Given the description of an element on the screen output the (x, y) to click on. 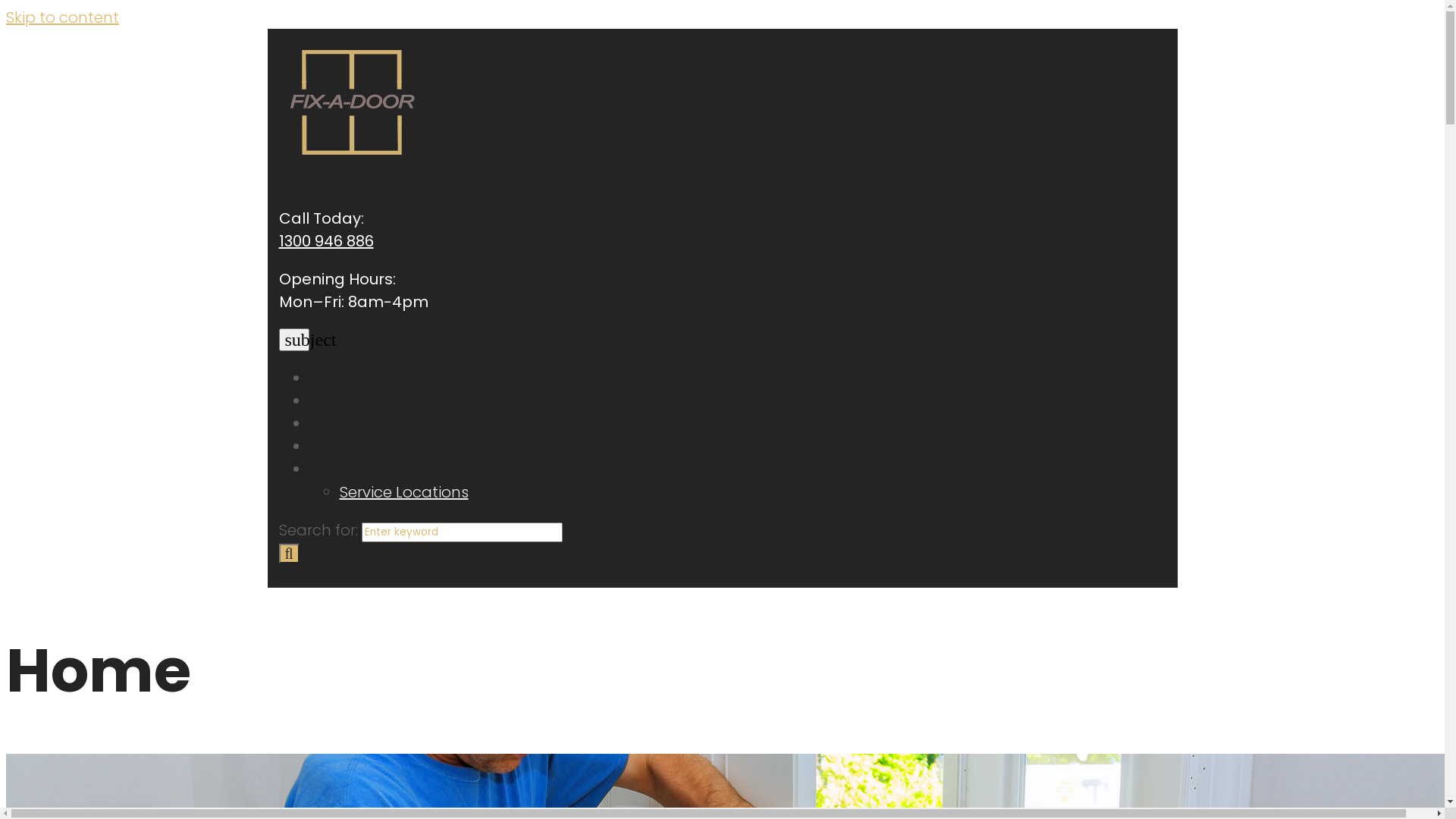
Services Element type: text (341, 423)
Gallery Element type: text (336, 446)
Opening Hours: Element type: text (337, 278)
subject Element type: text (294, 339)
Search for: Element type: hover (460, 532)
About Us Element type: text (344, 400)
Contact Element type: text (341, 469)
Call Today: Element type: text (321, 218)
1300 946 886 Element type: text (326, 240)
Skip to content Element type: text (62, 17)
Home Element type: text (332, 378)
Service Locations Element type: text (403, 491)
